Given the description of an element on the screen output the (x, y) to click on. 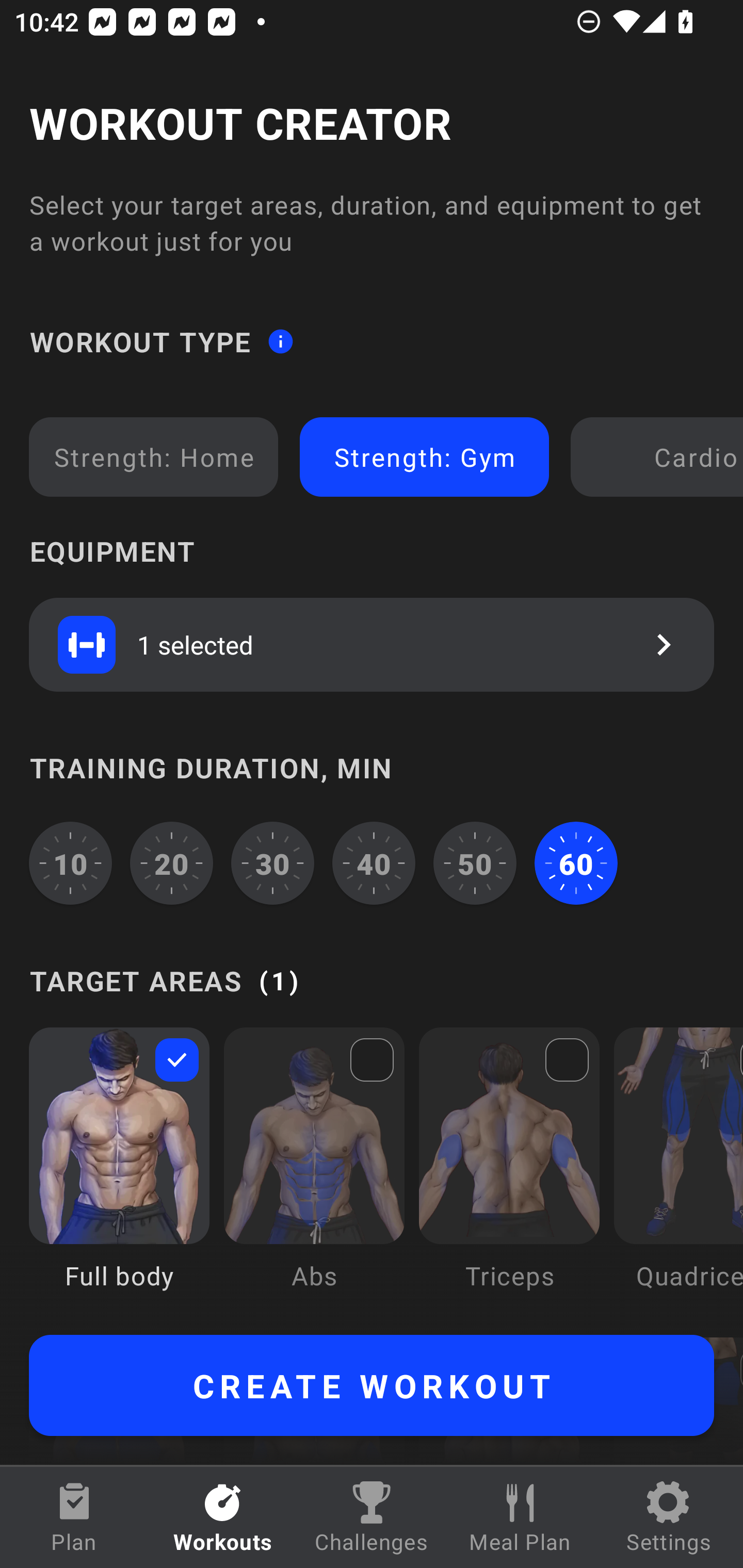
Workout type information button (280, 340)
Strength: Home (153, 457)
Cardio (660, 457)
1 selected (371, 644)
10 (70, 863)
20 (171, 863)
30 (272, 863)
40 (373, 863)
50 (474, 863)
60 (575, 863)
Abs (313, 1172)
Triceps (509, 1172)
Quadriceps (678, 1172)
CREATE WORKOUT (371, 1385)
 Plan  (74, 1517)
 Challenges  (371, 1517)
 Meal Plan  (519, 1517)
 Settings  (668, 1517)
